Given the description of an element on the screen output the (x, y) to click on. 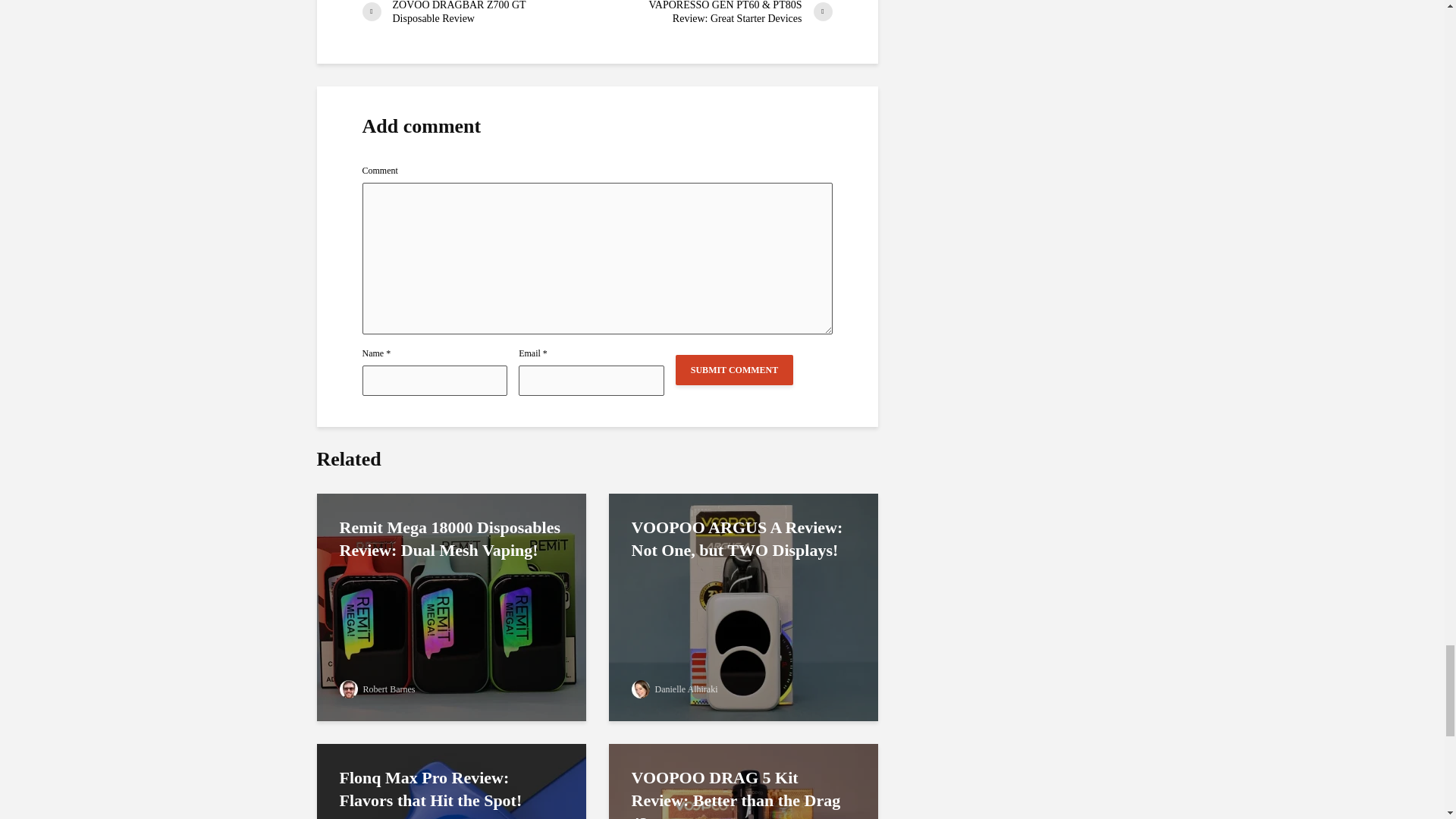
Remit Mega 18000 Disposables Review: Dual Mesh Vaping! (451, 605)
Submit Comment (734, 369)
VOOPOO ARGUS A Review: Not One, but TWO Displays! (742, 605)
